Given the description of an element on the screen output the (x, y) to click on. 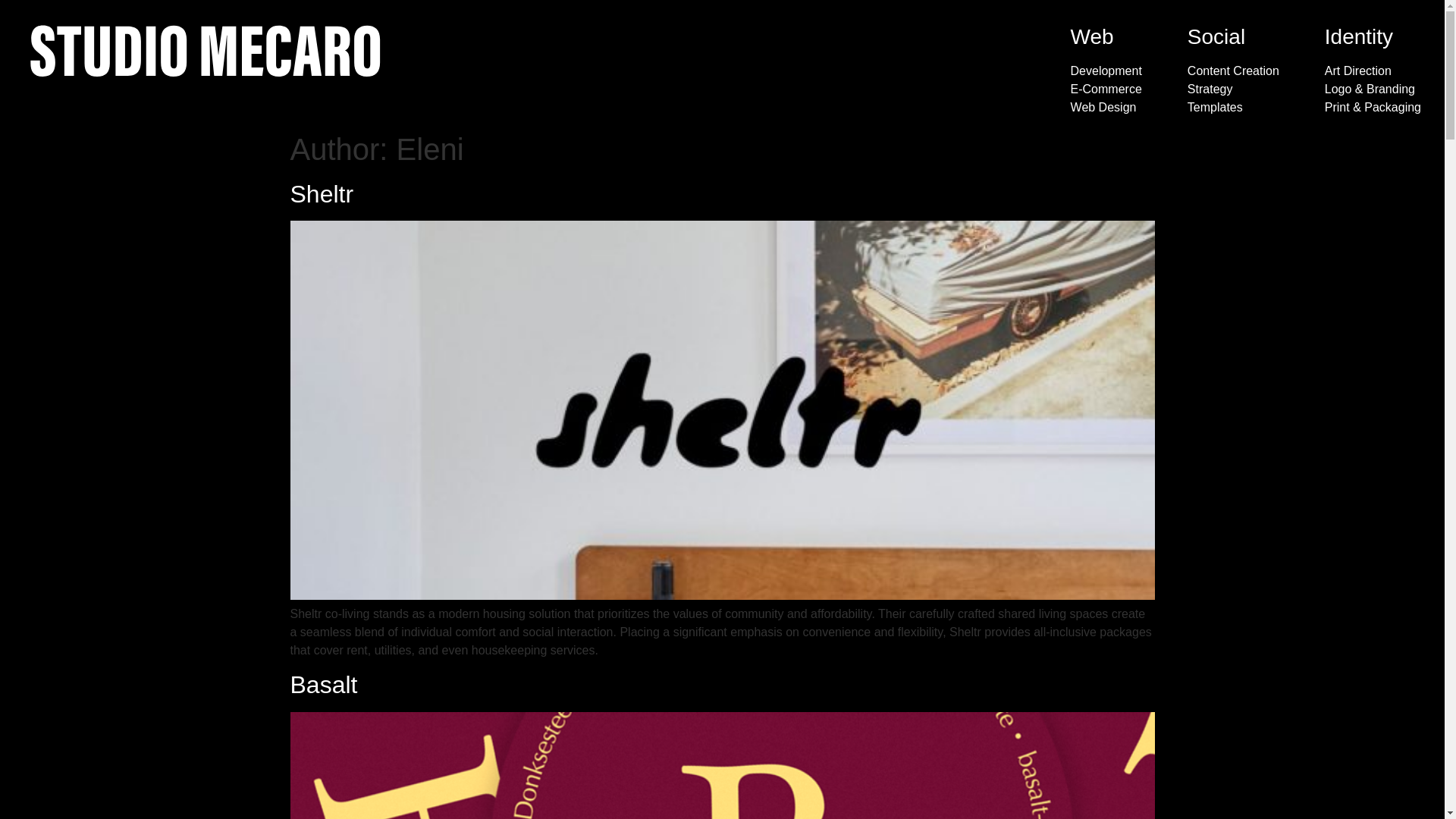
Basalt (322, 684)
Sheltr (321, 194)
